Given the description of an element on the screen output the (x, y) to click on. 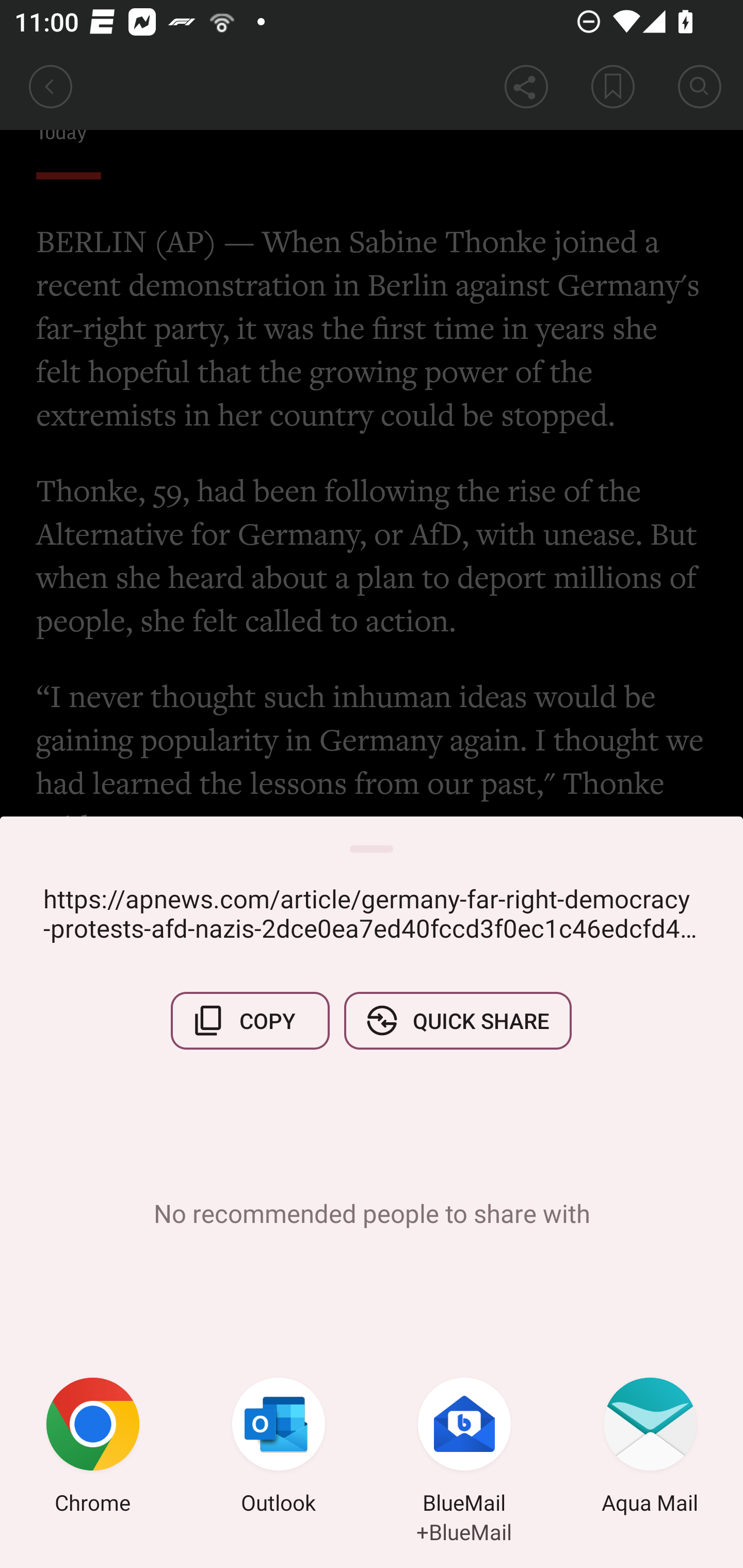
COPY (249, 1020)
QUICK SHARE (457, 1020)
Chrome (92, 1448)
Outlook (278, 1448)
BlueMail +BlueMail (464, 1448)
Aqua Mail (650, 1448)
